Given the description of an element on the screen output the (x, y) to click on. 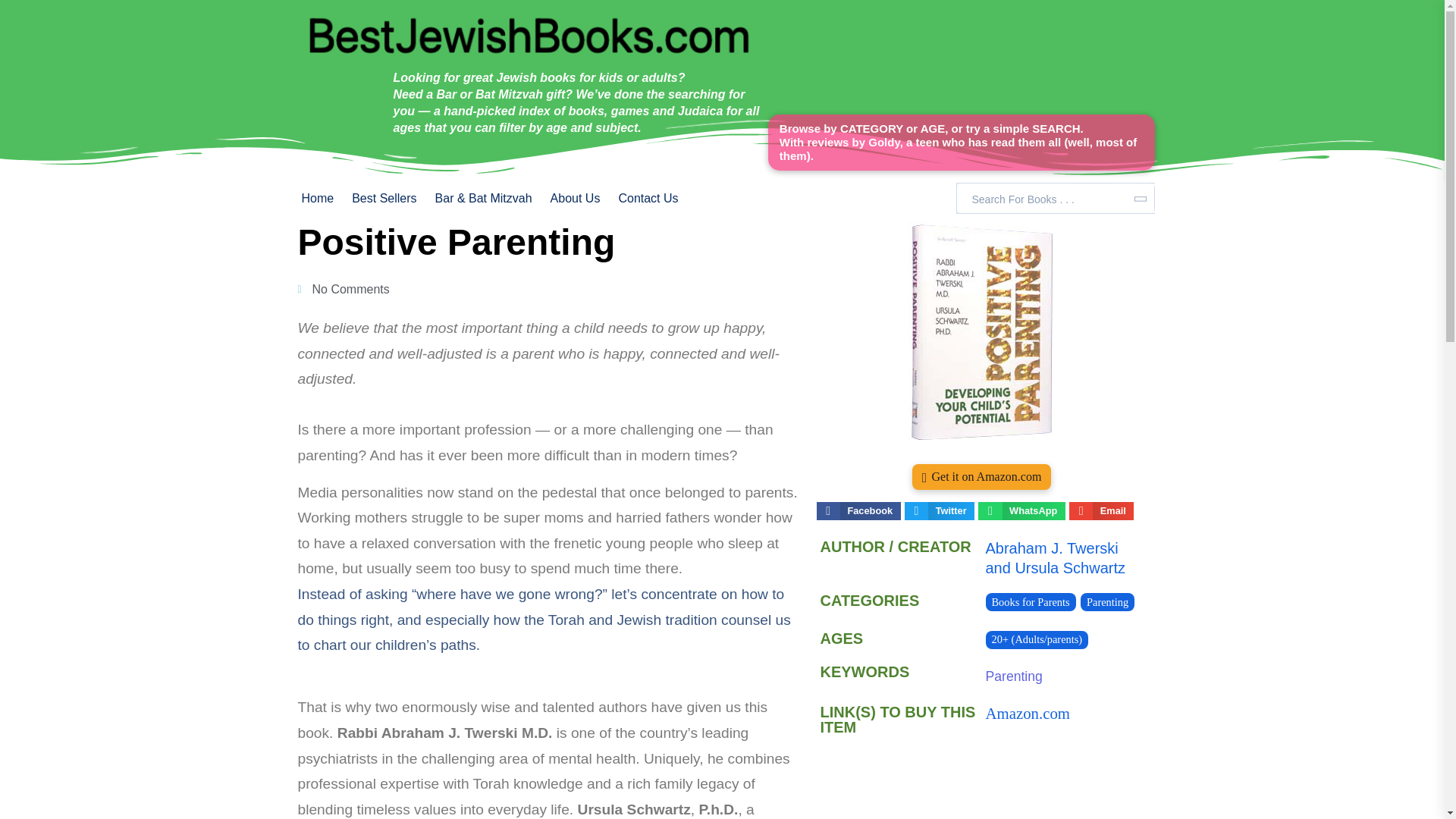
Best Sellers (383, 198)
Best Sellers (383, 198)
Home (322, 198)
Amazon.com (1027, 712)
Parenting (1013, 676)
About Us (575, 198)
No Comments (342, 289)
Contact Us (647, 198)
Get it on Amazon.com (981, 476)
Contact Us (647, 198)
